Given the description of an element on the screen output the (x, y) to click on. 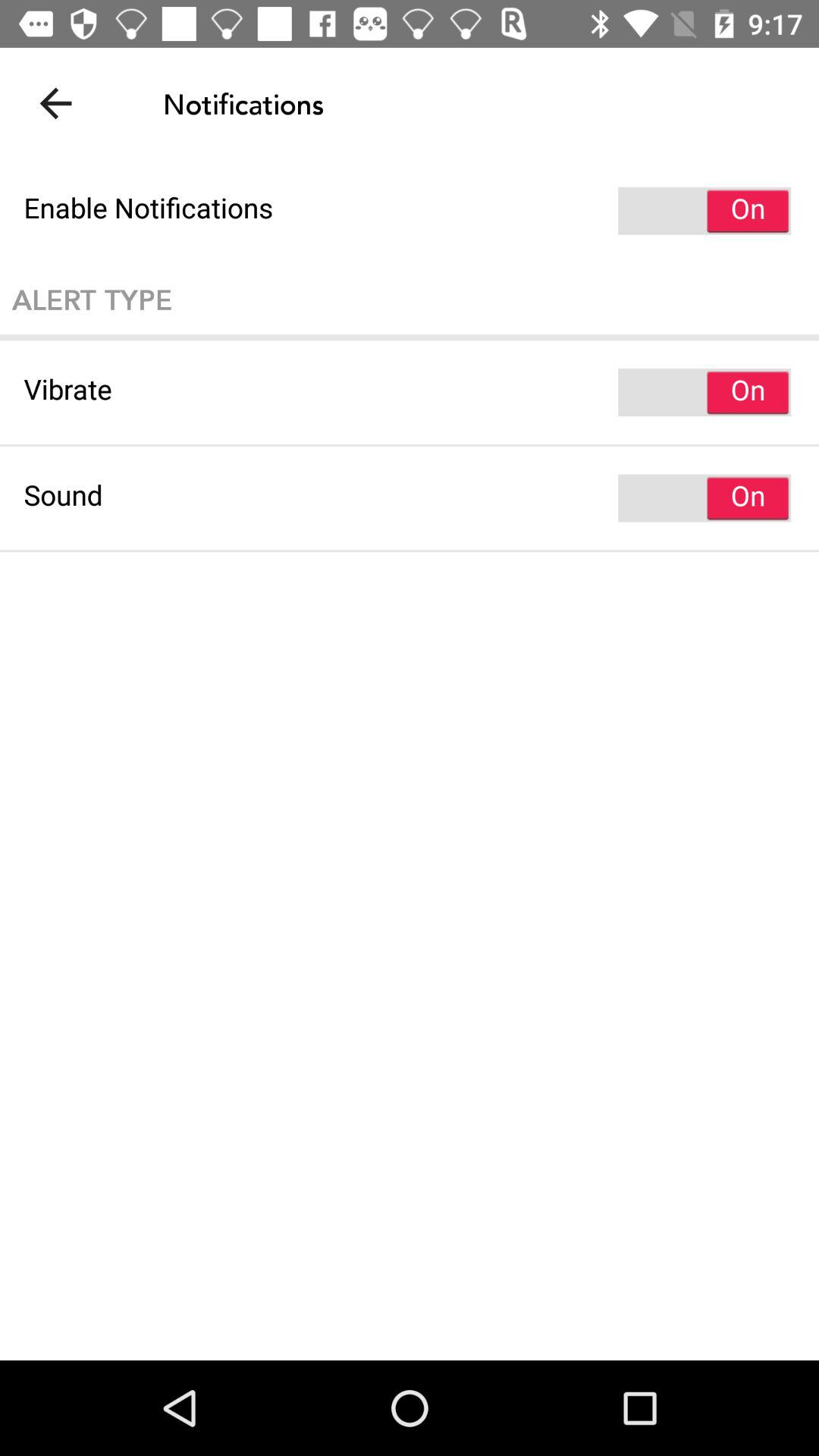
scroll to vibrate icon (409, 392)
